Given the description of an element on the screen output the (x, y) to click on. 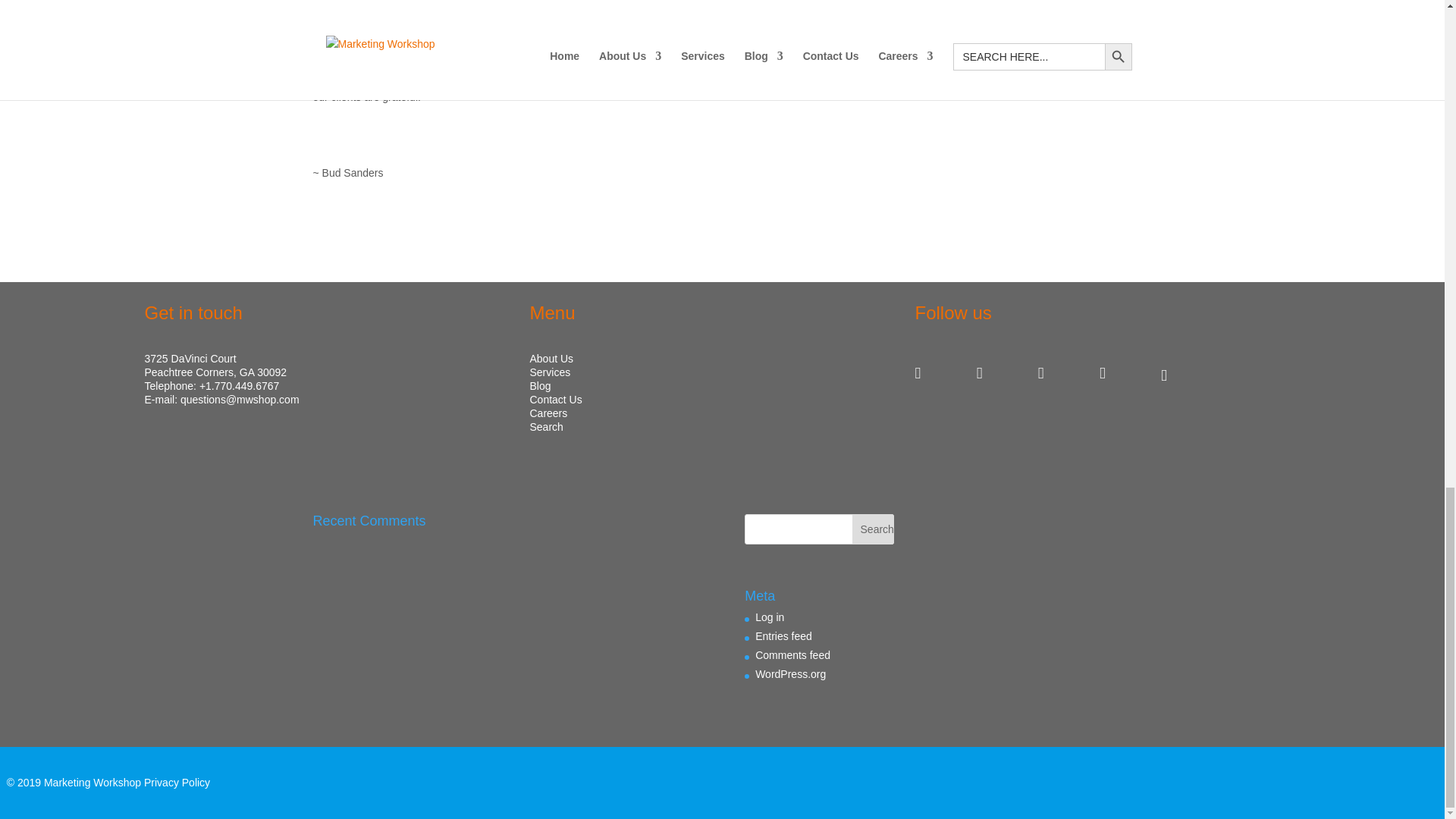
Search (872, 529)
Search (872, 529)
About Us (551, 358)
Careers (548, 413)
Blog (539, 386)
Log in (769, 616)
Search (545, 426)
Services (549, 372)
Contact Us (554, 399)
WordPress.org (790, 674)
